Given the description of an element on the screen output the (x, y) to click on. 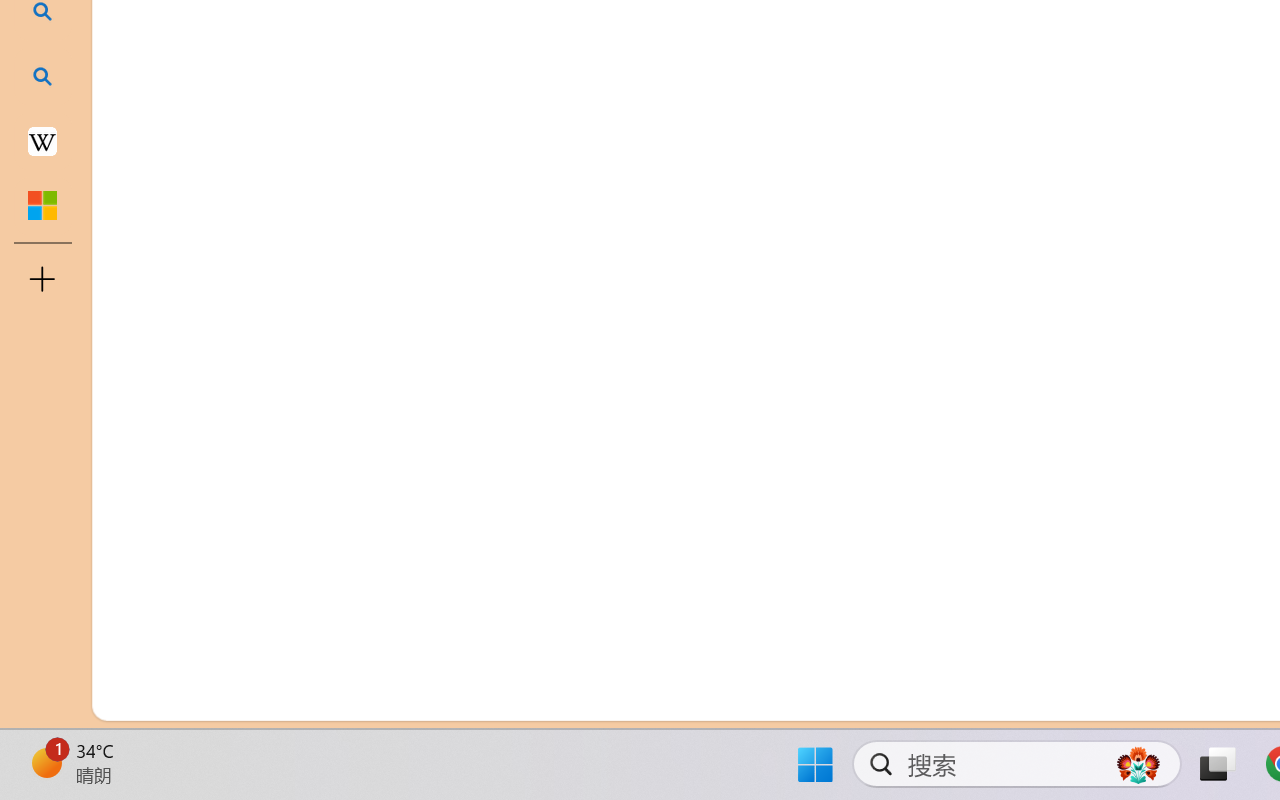
Accounts - Sign in requested (135, 548)
remote (122, 698)
Manage (135, 635)
Outline Section (331, 619)
Manage (135, 591)
Debug Console (Ctrl+Shift+Y) (854, 243)
Terminal (Ctrl+`) (1021, 243)
Earth - Wikipedia (42, 140)
